Given the description of an element on the screen output the (x, y) to click on. 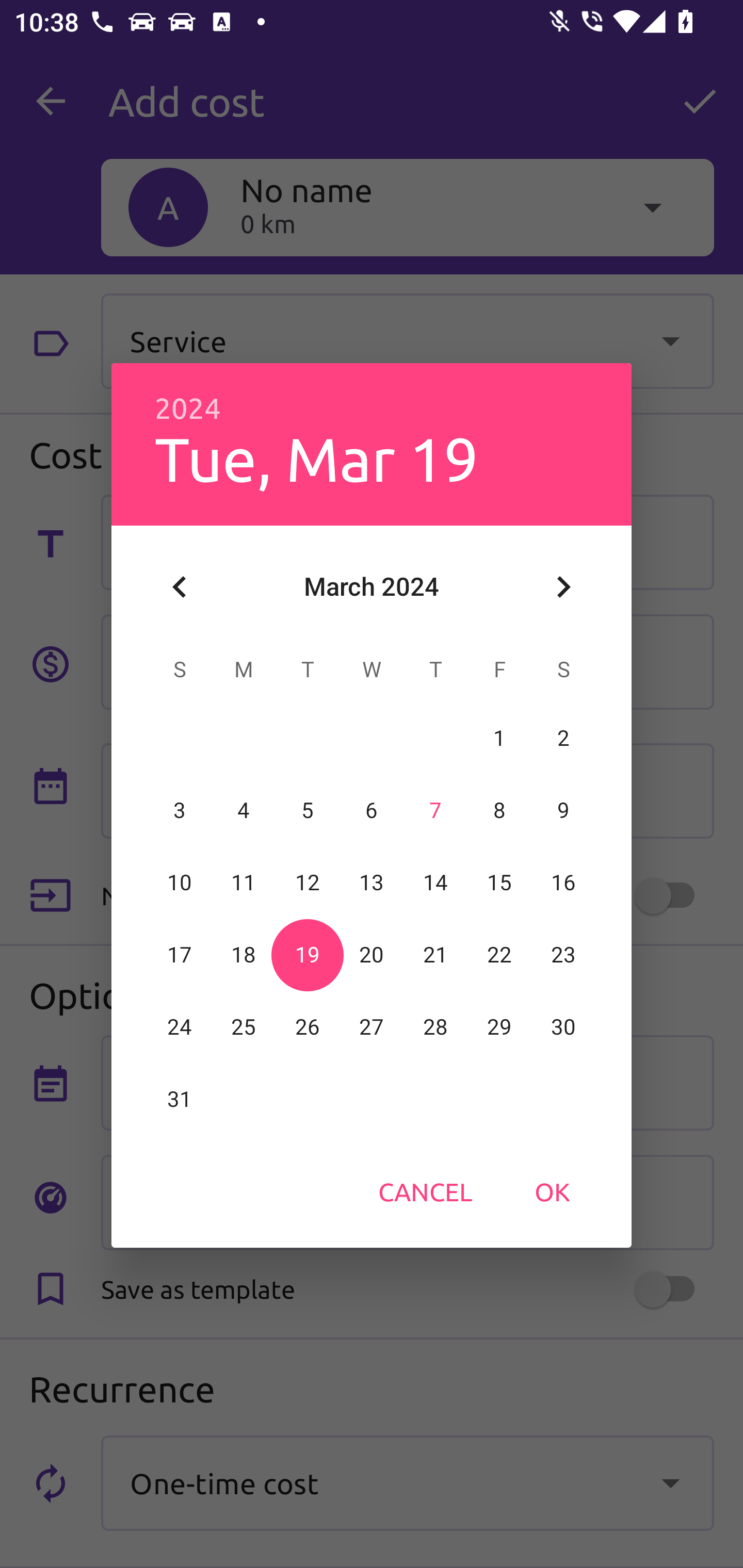
2024 (187, 408)
Tue, Mar 19 (316, 458)
Previous month (178, 587)
Next month (563, 587)
1 01 March 2024 (499, 738)
2 02 March 2024 (563, 738)
3 03 March 2024 (179, 810)
4 04 March 2024 (243, 810)
5 05 March 2024 (307, 810)
6 06 March 2024 (371, 810)
7 07 March 2024 (435, 810)
8 08 March 2024 (499, 810)
9 09 March 2024 (563, 810)
10 10 March 2024 (179, 882)
11 11 March 2024 (243, 882)
12 12 March 2024 (307, 882)
13 13 March 2024 (371, 882)
14 14 March 2024 (435, 882)
15 15 March 2024 (499, 882)
16 16 March 2024 (563, 882)
17 17 March 2024 (179, 954)
18 18 March 2024 (243, 954)
19 19 March 2024 (307, 954)
20 20 March 2024 (371, 954)
21 21 March 2024 (435, 954)
22 22 March 2024 (499, 954)
23 23 March 2024 (563, 954)
24 24 March 2024 (179, 1026)
25 25 March 2024 (243, 1026)
26 26 March 2024 (307, 1026)
27 27 March 2024 (371, 1026)
28 28 March 2024 (435, 1026)
29 29 March 2024 (499, 1026)
30 30 March 2024 (563, 1026)
31 31 March 2024 (179, 1099)
CANCEL (425, 1191)
OK (552, 1191)
